Given the description of an element on the screen output the (x, y) to click on. 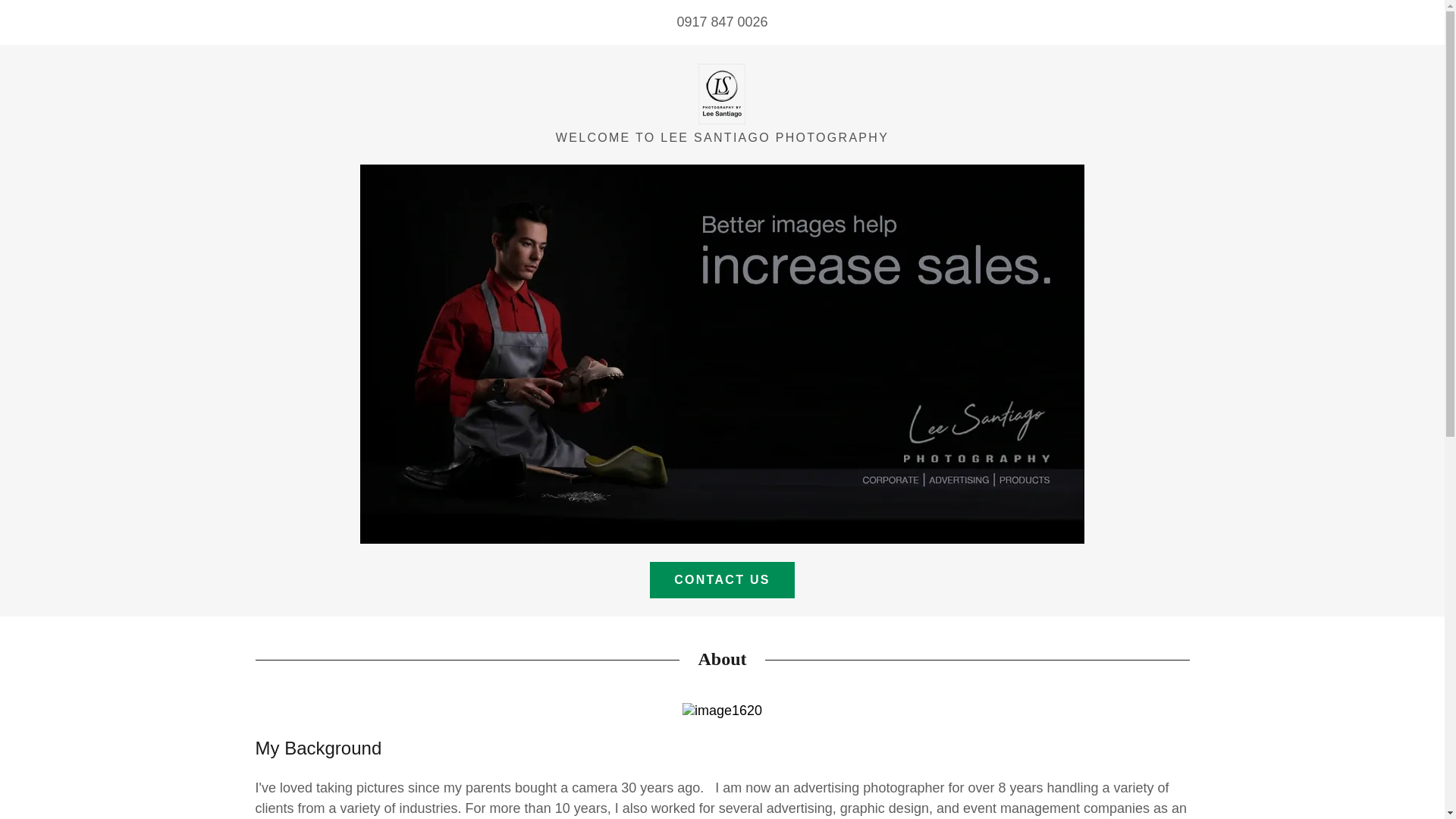
Lee Santiago Photography (721, 92)
CONTACT US (721, 579)
0917 847 0026 (722, 21)
